Given the description of an element on the screen output the (x, y) to click on. 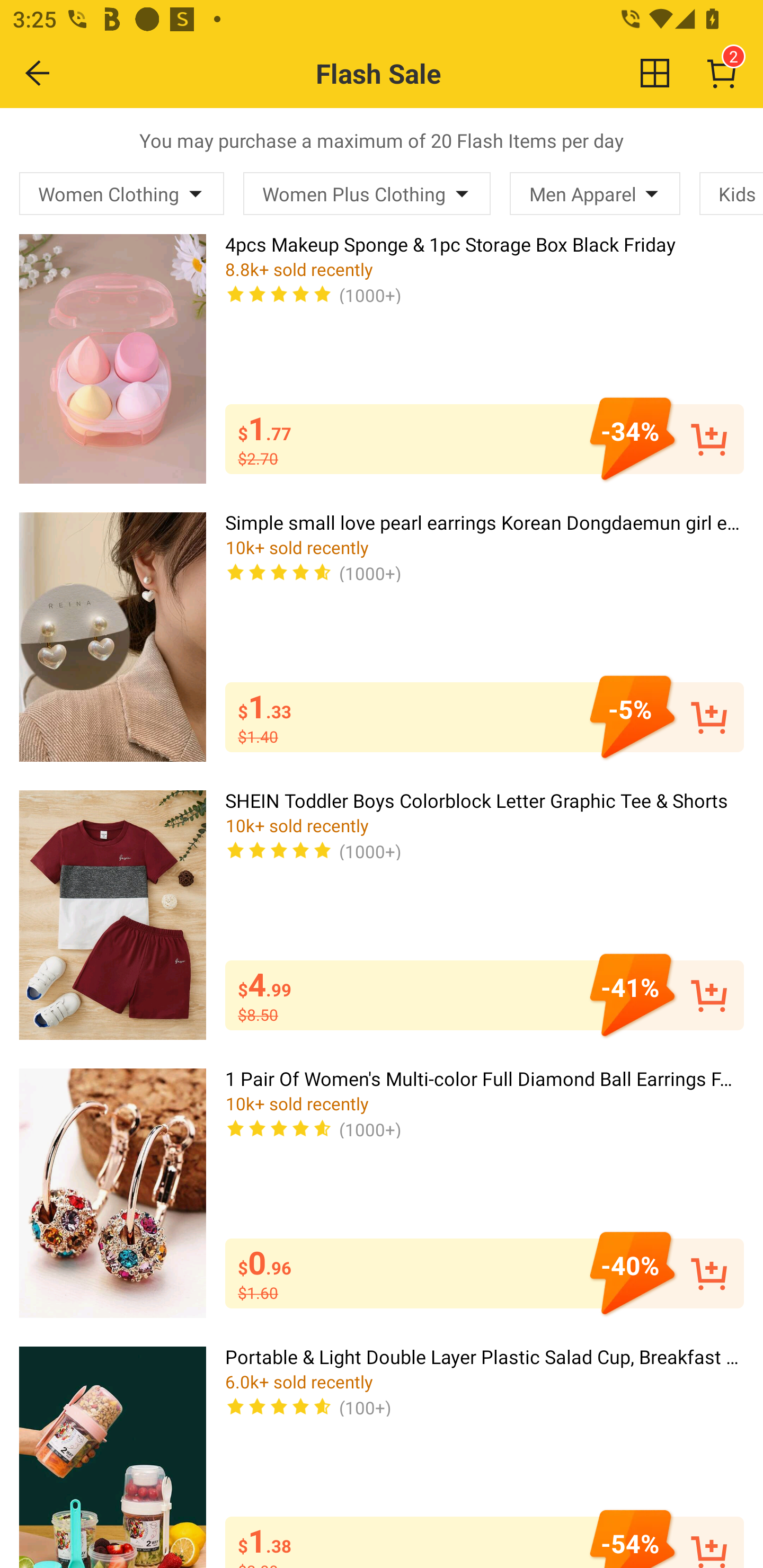
Flash Sale change view 2 (419, 72)
2 (721, 72)
change view (654, 72)
BACK (38, 72)
Women Clothing (121, 193)
Women Plus Clothing (366, 193)
Men Apparel (594, 193)
4pcs Makeup Sponge & 1pc Storage Box Black Friday (112, 357)
